Given the description of an element on the screen output the (x, y) to click on. 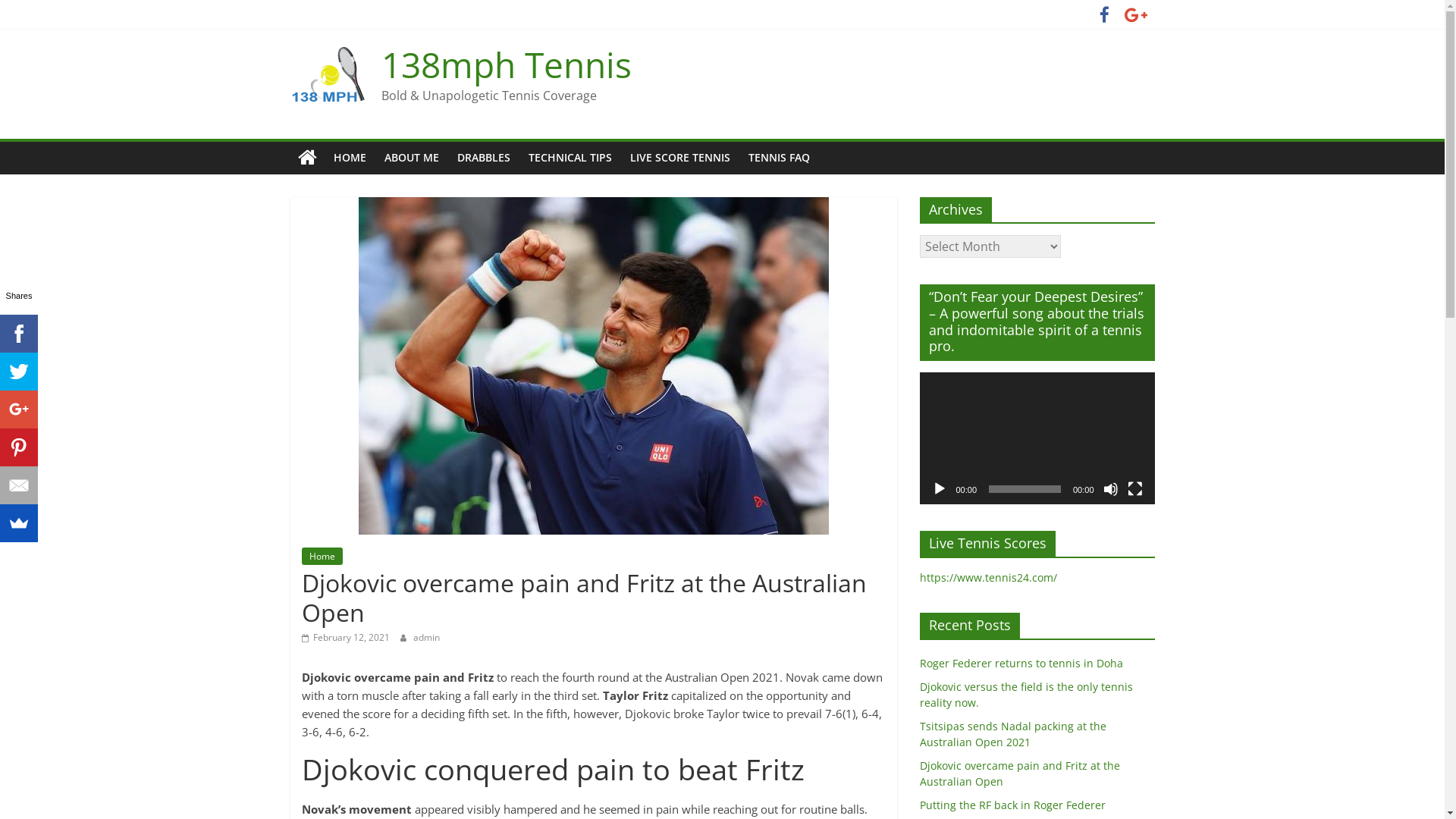
138mph Tennis Element type: hover (306, 157)
Facebook Element type: hover (18, 333)
Djokovic overcame pain and Fritz at the Australian Open Element type: text (1019, 773)
Pinterest Element type: hover (18, 447)
HOME Element type: text (349, 157)
Fullscreen Element type: hover (1134, 488)
admin Element type: text (425, 636)
Djokovic versus the field is the only tennis reality now. Element type: text (1025, 694)
138mph Tennis Element type: text (505, 63)
Home Element type: text (321, 555)
TENNIS FAQ Element type: text (778, 157)
Play Element type: hover (938, 488)
February 12, 2021 Element type: text (345, 636)
Email Element type: hover (18, 485)
ABOUT ME Element type: text (410, 157)
Google+ Element type: hover (18, 409)
Mute Element type: hover (1109, 488)
Putting the RF back in Roger Federer Element type: text (1011, 804)
TECHNICAL TIPS Element type: text (569, 157)
https://www.tennis24.com/ Element type: text (987, 577)
SumoMe Element type: hover (18, 523)
Twitter Element type: hover (18, 371)
DRABBLES Element type: text (482, 157)
Roger Federer returns to tennis in Doha Element type: text (1020, 662)
LIVE SCORE TENNIS Element type: text (679, 157)
Tsitsipas sends Nadal packing at the Australian Open 2021 Element type: text (1012, 733)
